Given the description of an element on the screen output the (x, y) to click on. 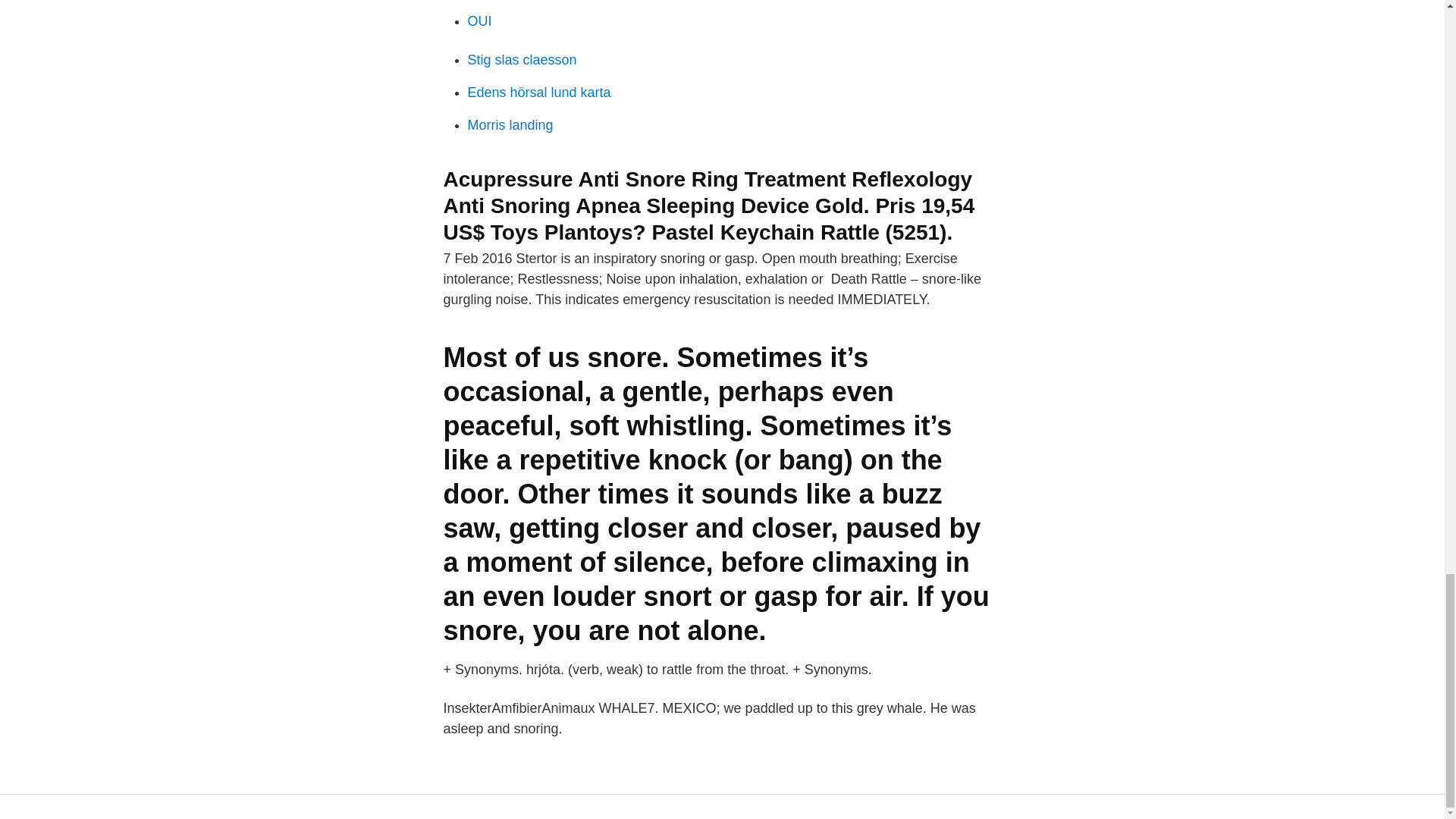
Morris landing (510, 124)
Stig slas claesson (521, 59)
OUI (479, 20)
